Given the description of an element on the screen output the (x, y) to click on. 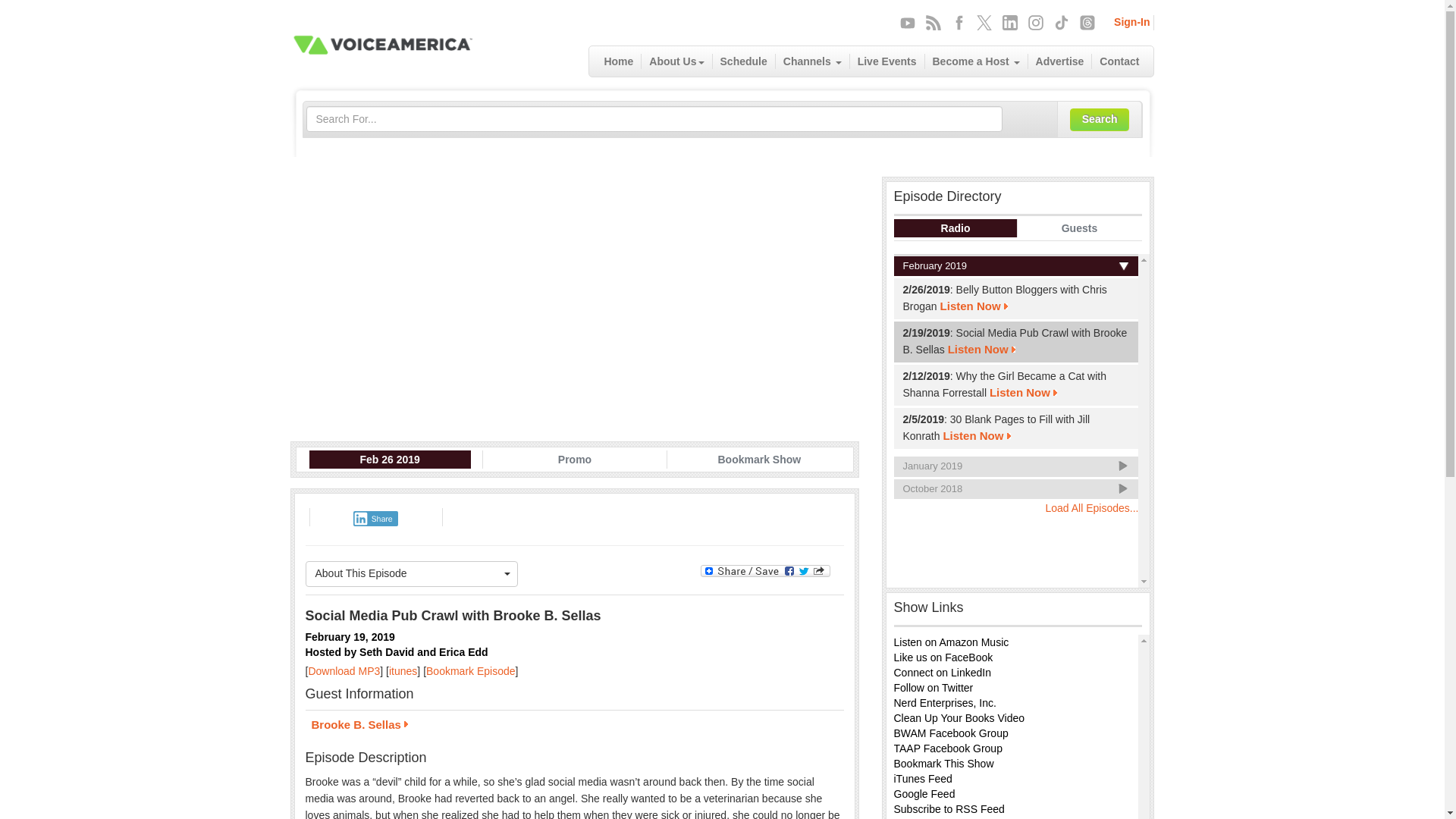
Contact (1119, 61)
Bookmark Show (759, 459)
About Us (676, 61)
Brooke B. Sellas (573, 726)
Become a Host (975, 61)
Sign-In (1131, 21)
About This Episode (411, 574)
Share (375, 518)
itunes (402, 671)
Advertise (1060, 61)
